Given the description of an element on the screen output the (x, y) to click on. 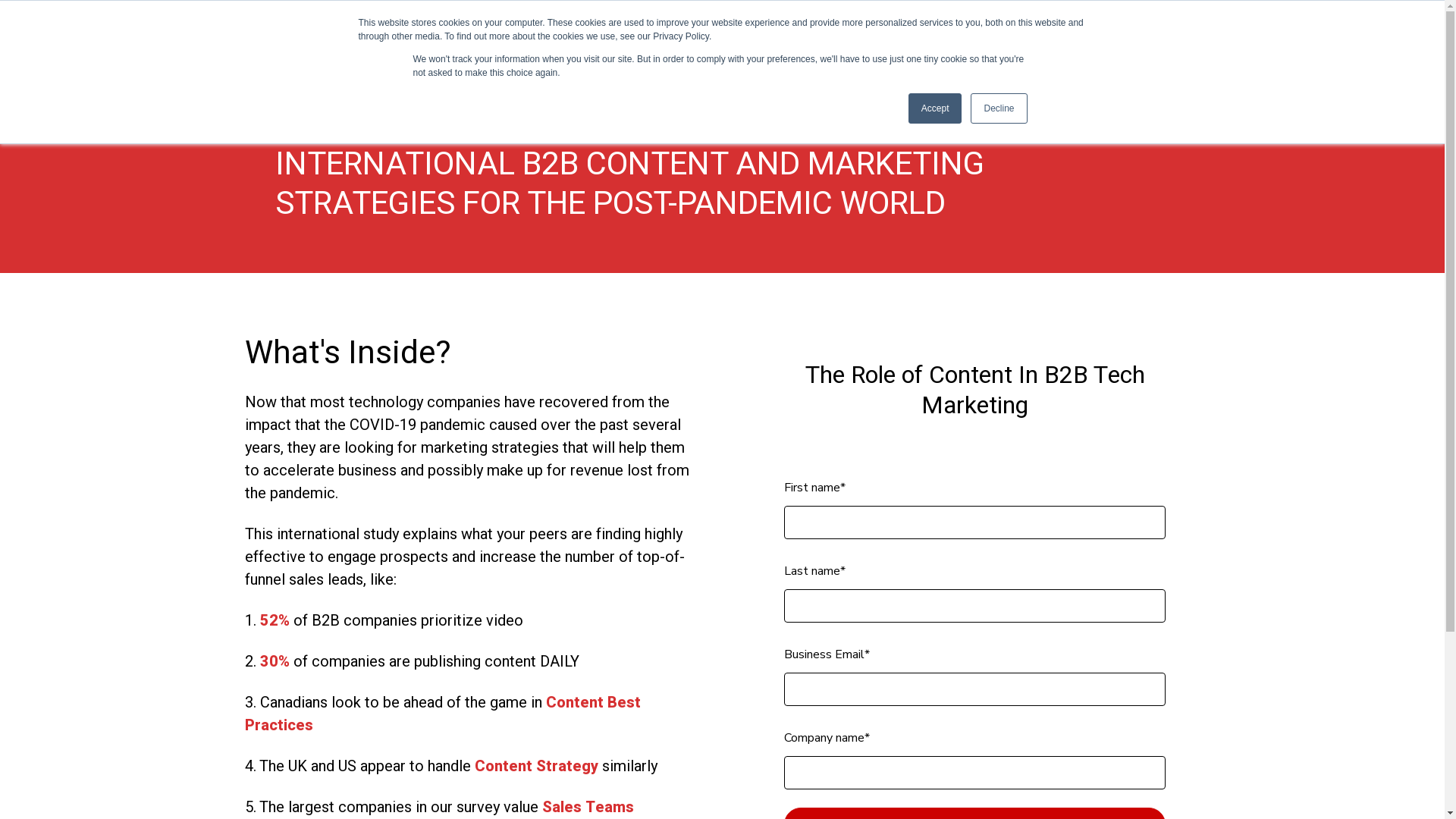
vast.png Element type: hover (714, 54)
Decline Element type: text (998, 108)
Accept Element type: text (935, 108)
